Given the description of an element on the screen output the (x, y) to click on. 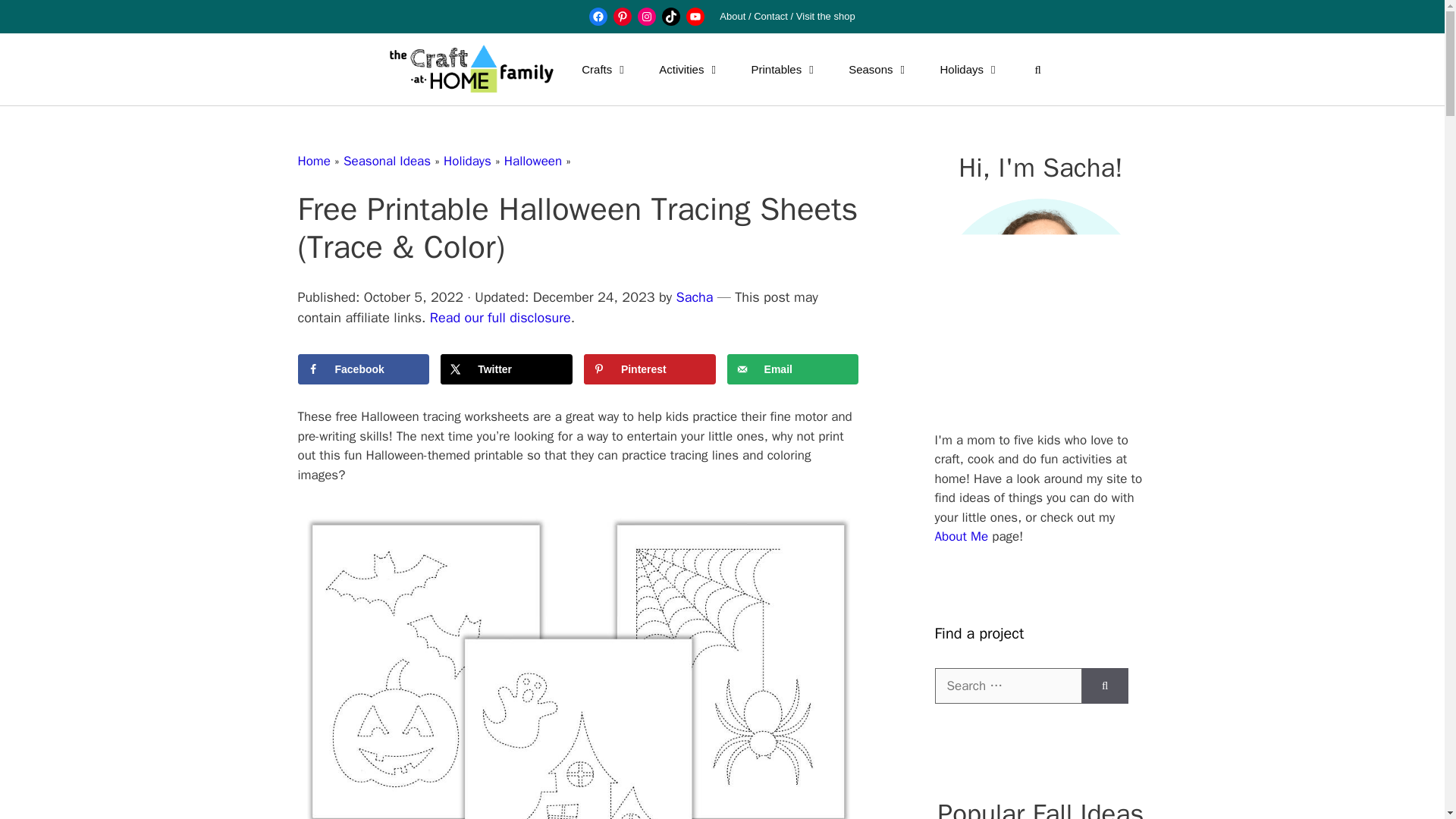
Visit the shop (826, 16)
Search for: (1007, 685)
The Craft-at-Home Family (471, 69)
Instagram (646, 16)
About (732, 16)
Holidays (970, 69)
Send over email (792, 368)
Activities (689, 69)
Crafts (604, 69)
Share on Facebook (363, 368)
